Given the description of an element on the screen output the (x, y) to click on. 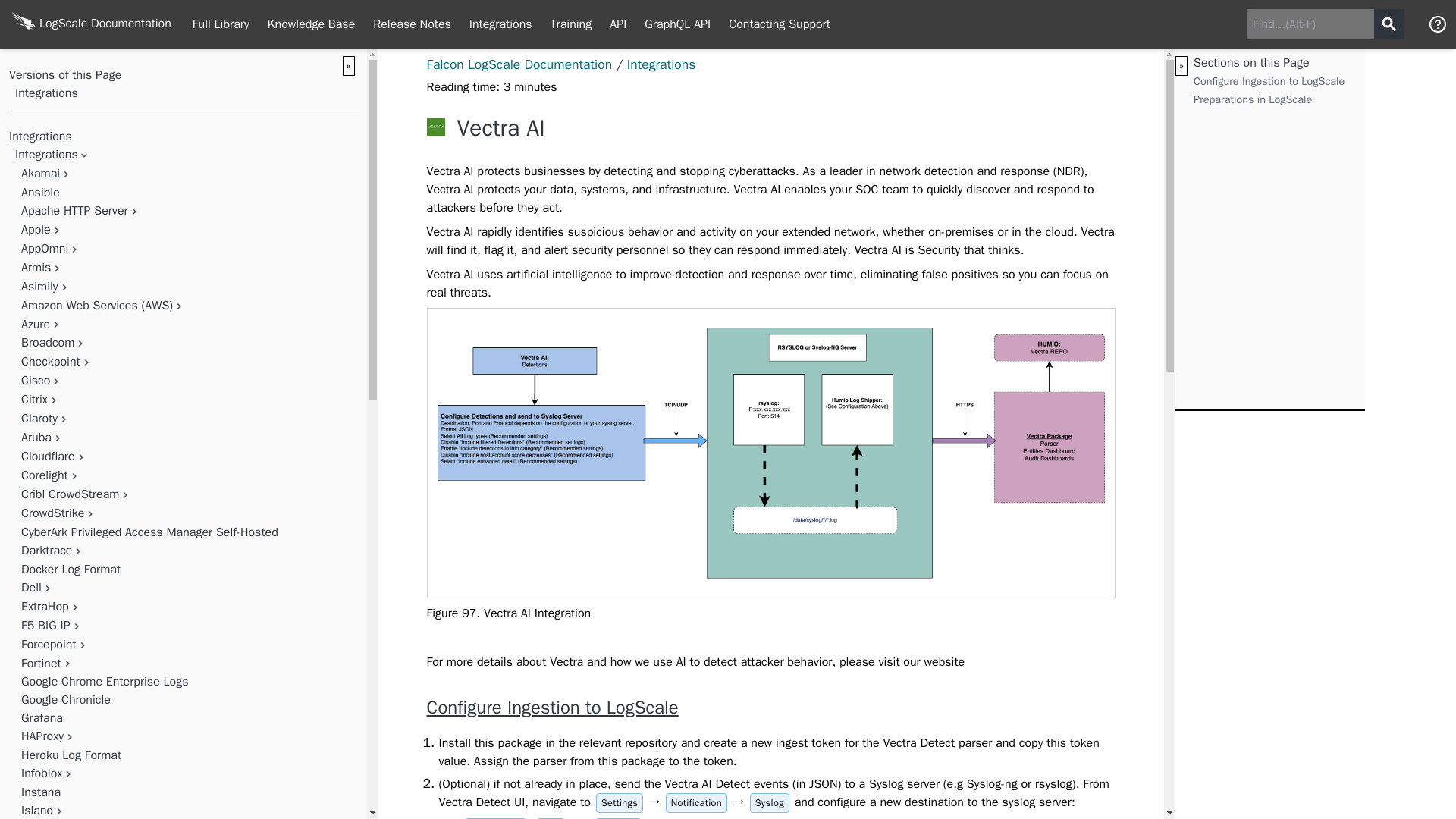
AppOmni (44, 248)
Ansible (40, 192)
Knowledge Base (312, 24)
Akamai (40, 173)
Asimily (39, 286)
GraphQL API (676, 24)
Release Notes (412, 24)
Training (571, 24)
Full Library (221, 24)
LogScale Documentation (91, 24)
